Given the description of an element on the screen output the (x, y) to click on. 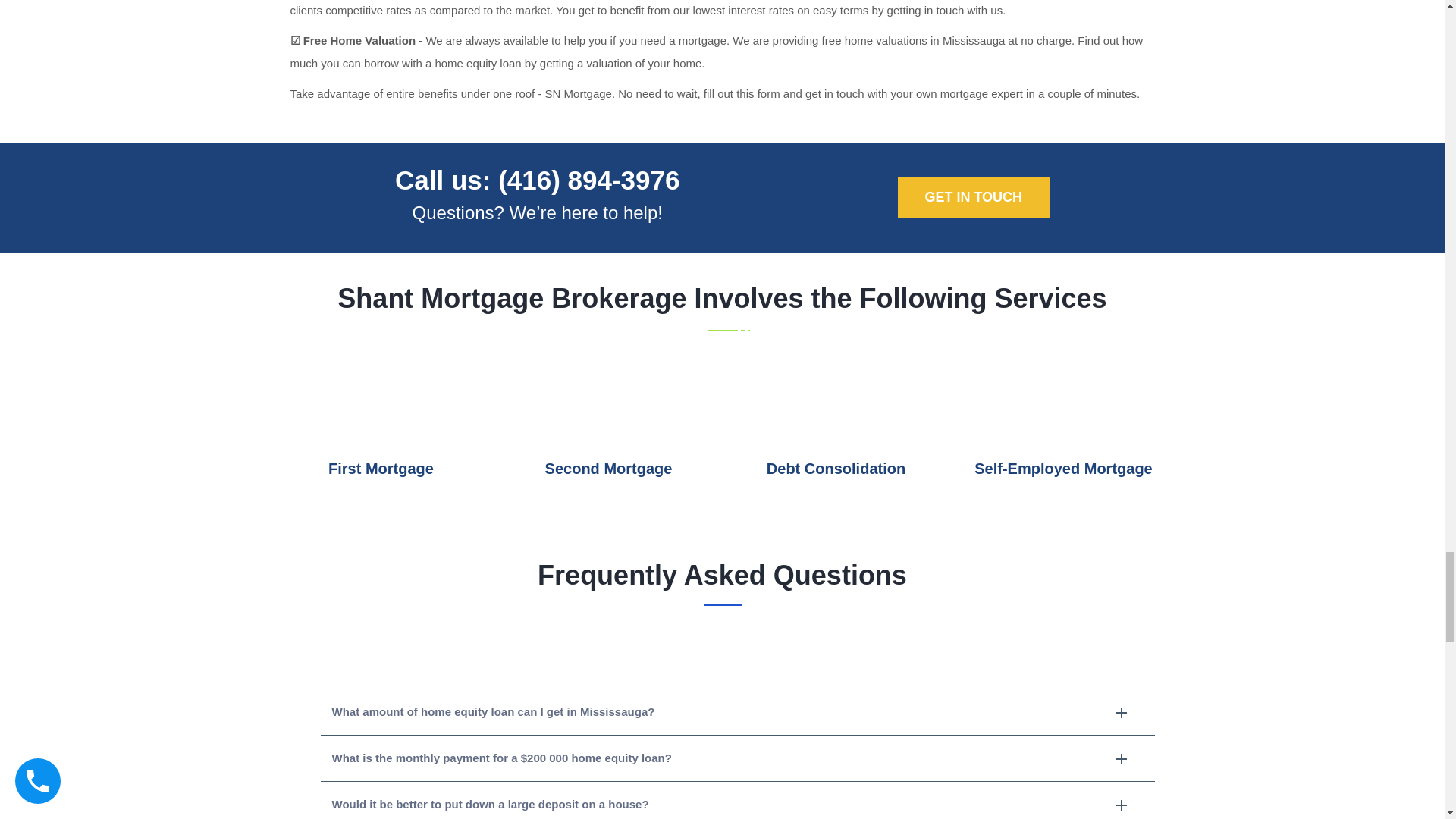
GET IN TOUCH (973, 197)
First Mortgage (381, 468)
